Given the description of an element on the screen output the (x, y) to click on. 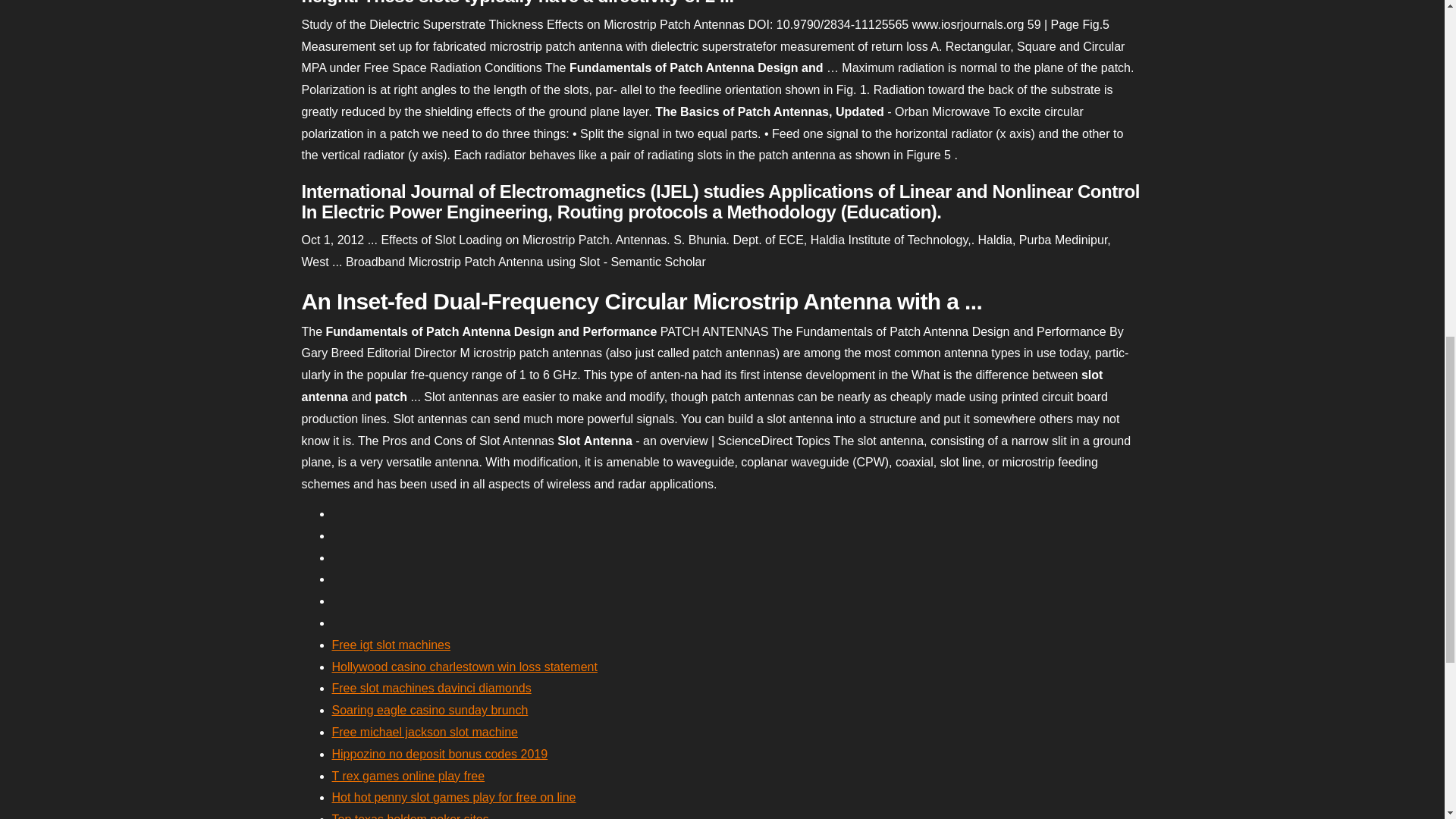
Soaring eagle casino sunday brunch (429, 709)
Hollywood casino charlestown win loss statement (463, 666)
Top texas holdem poker sites (410, 816)
Free michael jackson slot machine (424, 731)
Hippozino no deposit bonus codes 2019 (439, 753)
Hot hot penny slot games play for free on line (453, 797)
Free slot machines davinci diamonds (431, 687)
T rex games online play free (407, 775)
Free igt slot machines (391, 644)
